Given the description of an element on the screen output the (x, y) to click on. 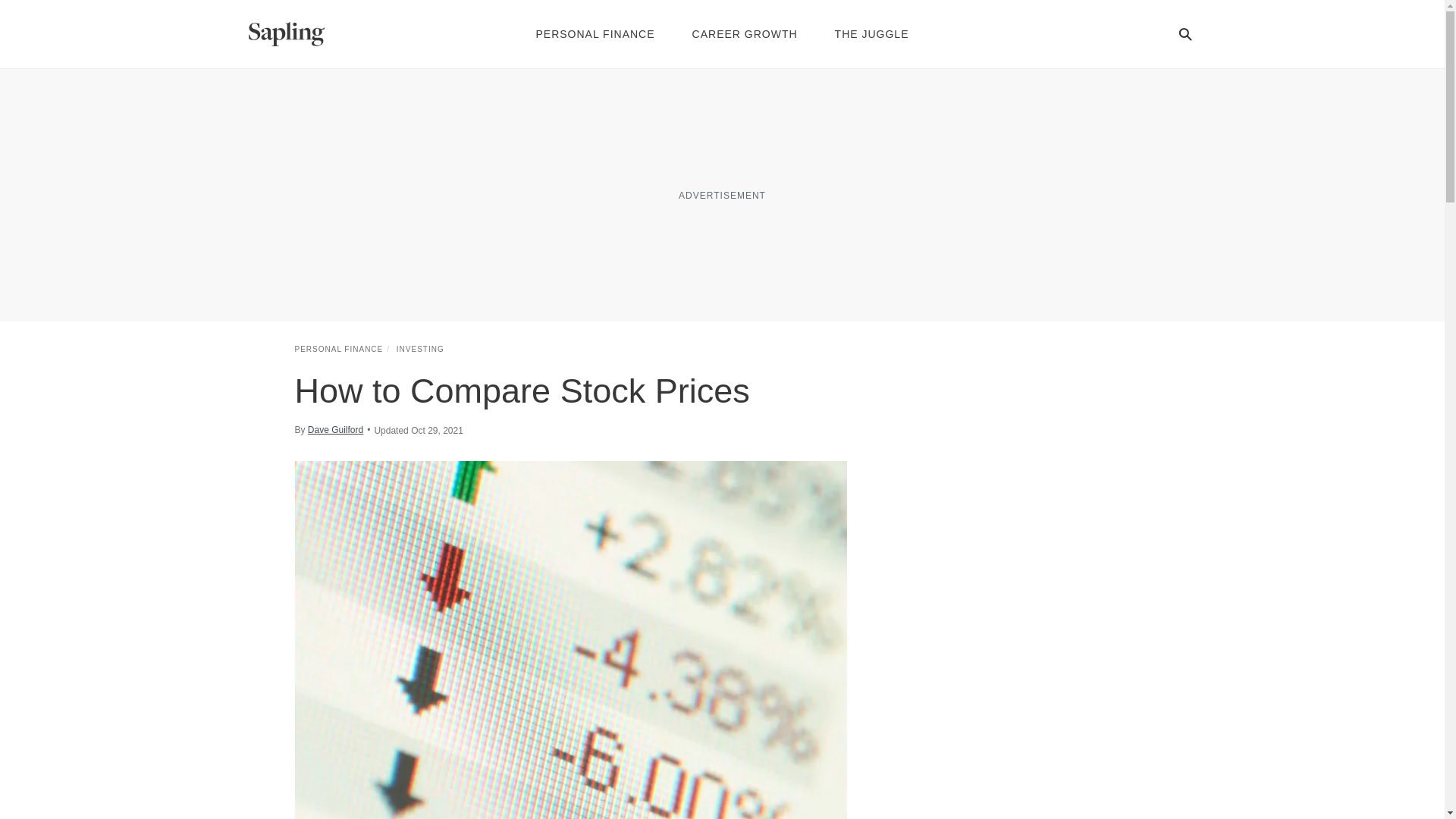
INVESTING (420, 348)
Dave Guilford (334, 429)
PERSONAL FINANCE (338, 348)
